Given the description of an element on the screen output the (x, y) to click on. 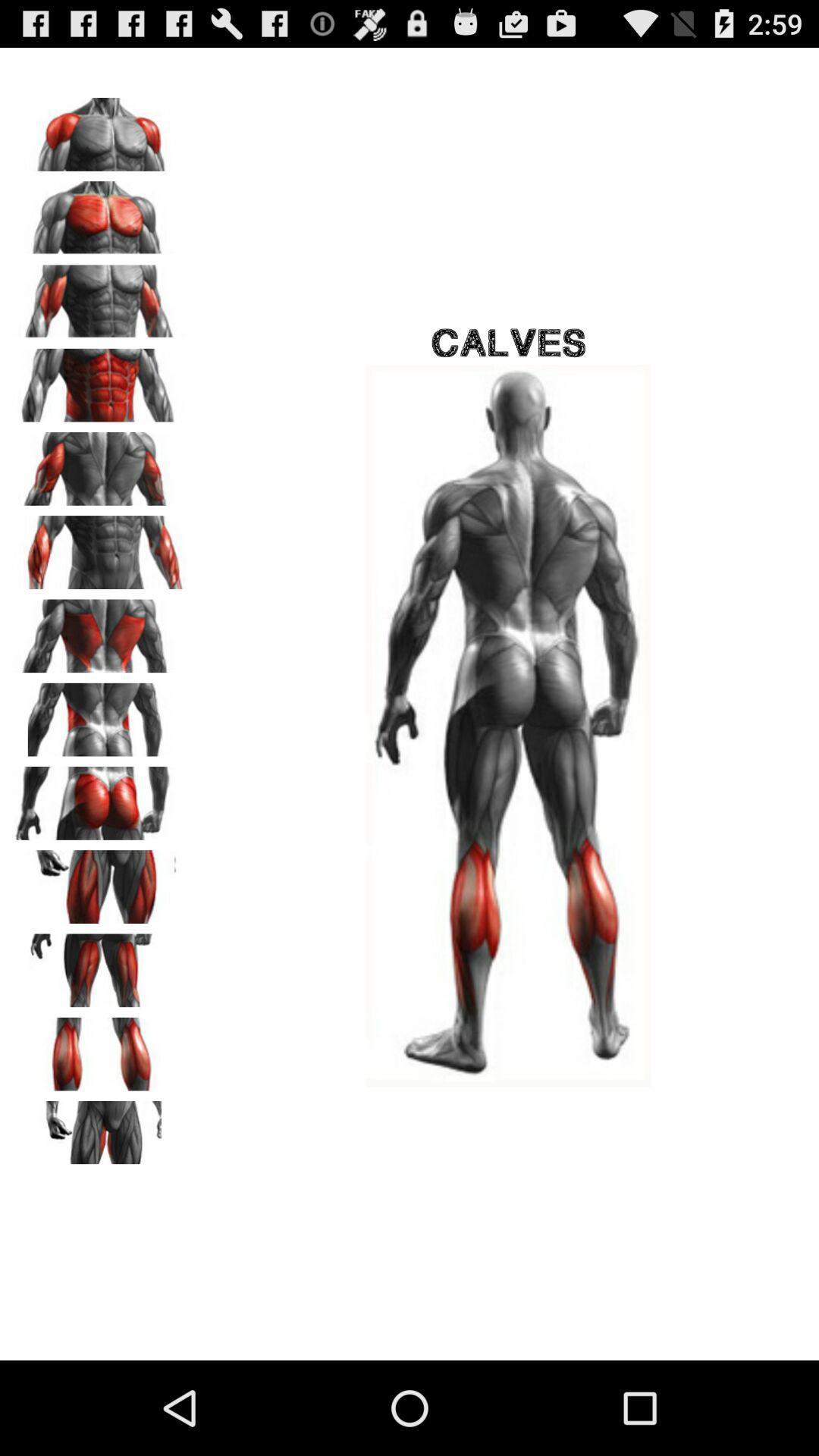
go to selection (99, 1048)
